Given the description of an element on the screen output the (x, y) to click on. 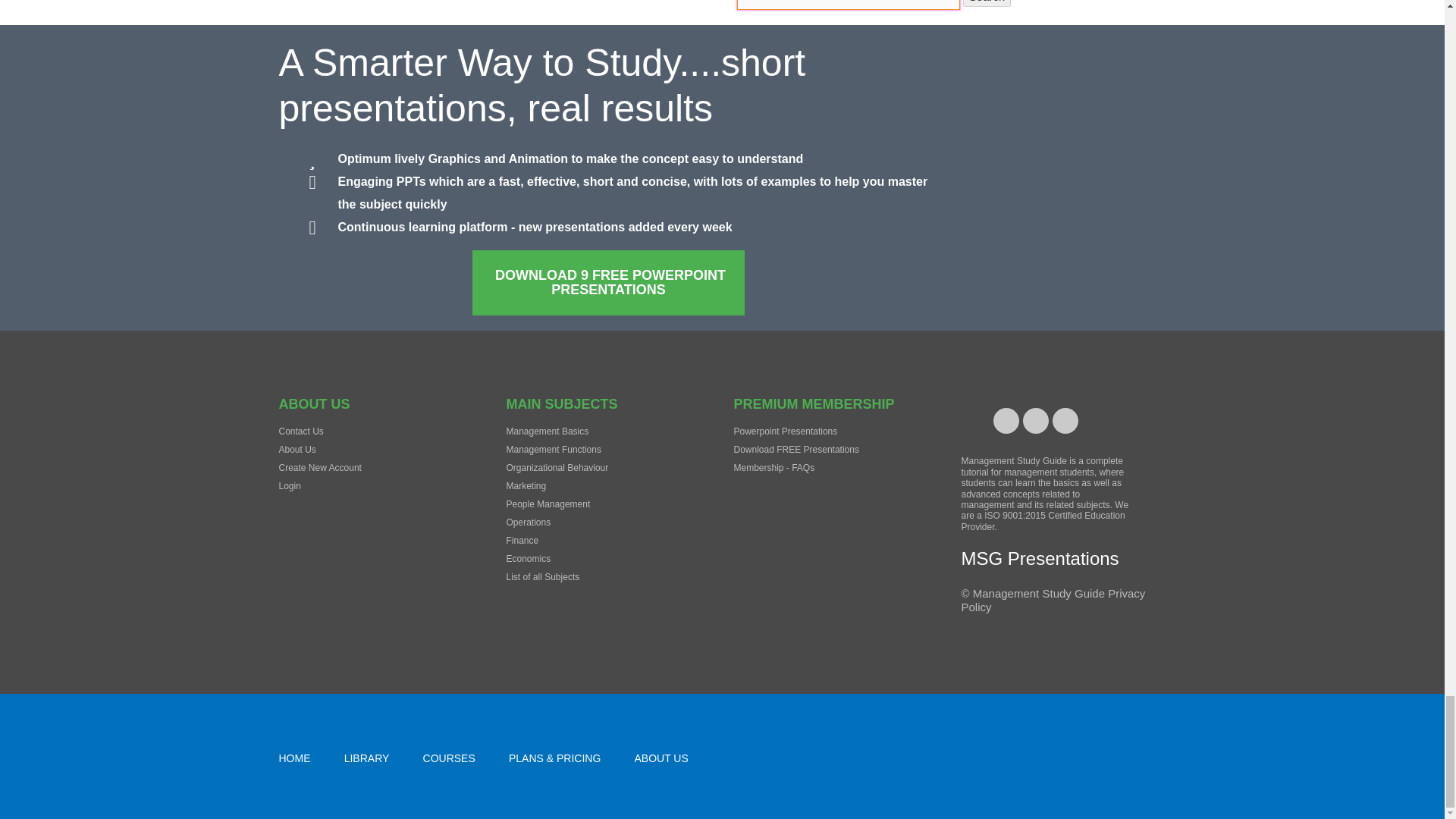
Search (986, 3)
